Given the description of an element on the screen output the (x, y) to click on. 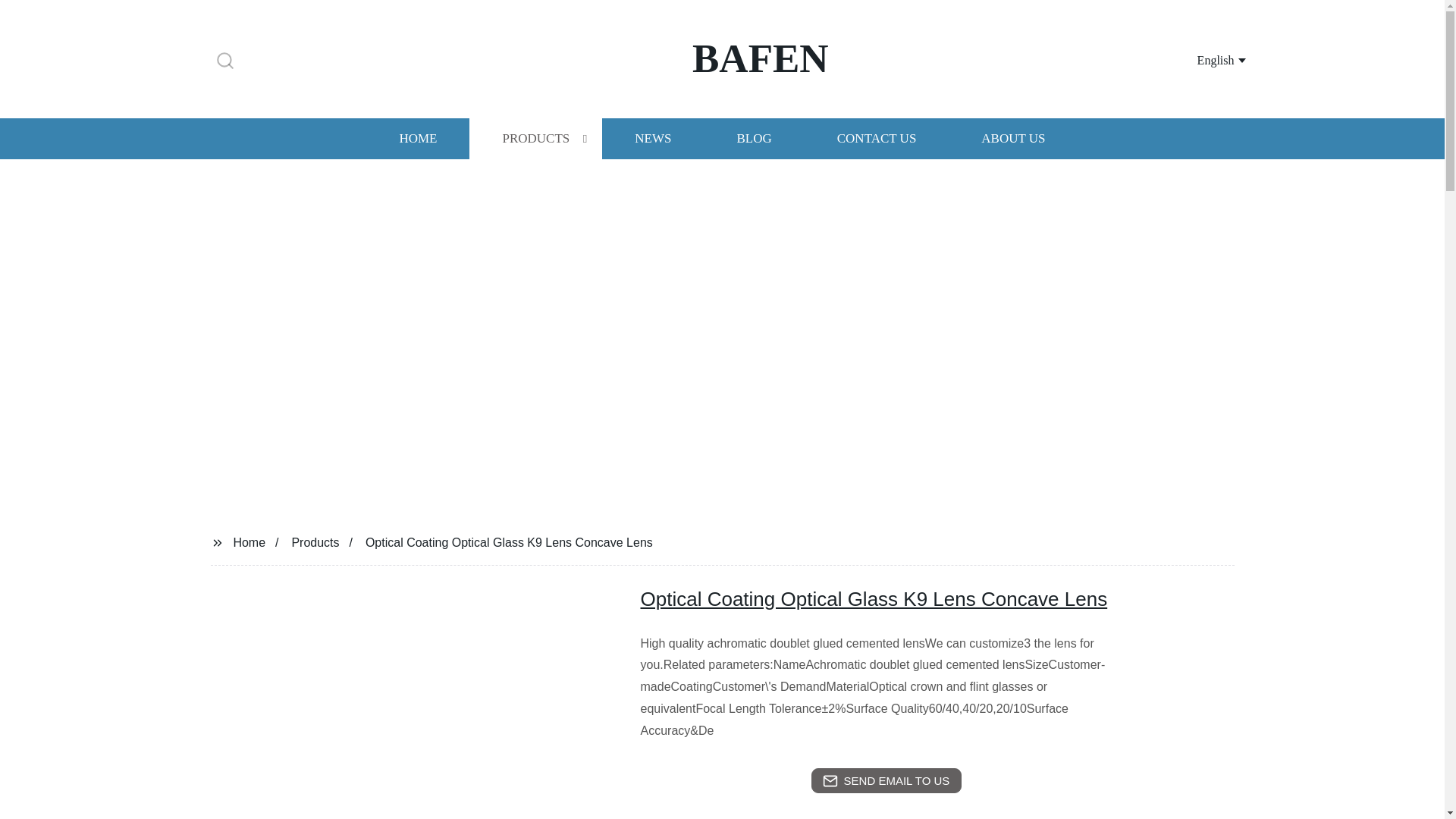
SEND EMAIL TO US (885, 780)
ABOUT US (1013, 137)
PRODUCTS (535, 137)
CONTACT US (877, 137)
English (1203, 59)
BLOG (753, 137)
Home (248, 541)
Products (315, 541)
HOME (417, 137)
English (1203, 59)
